Given the description of an element on the screen output the (x, y) to click on. 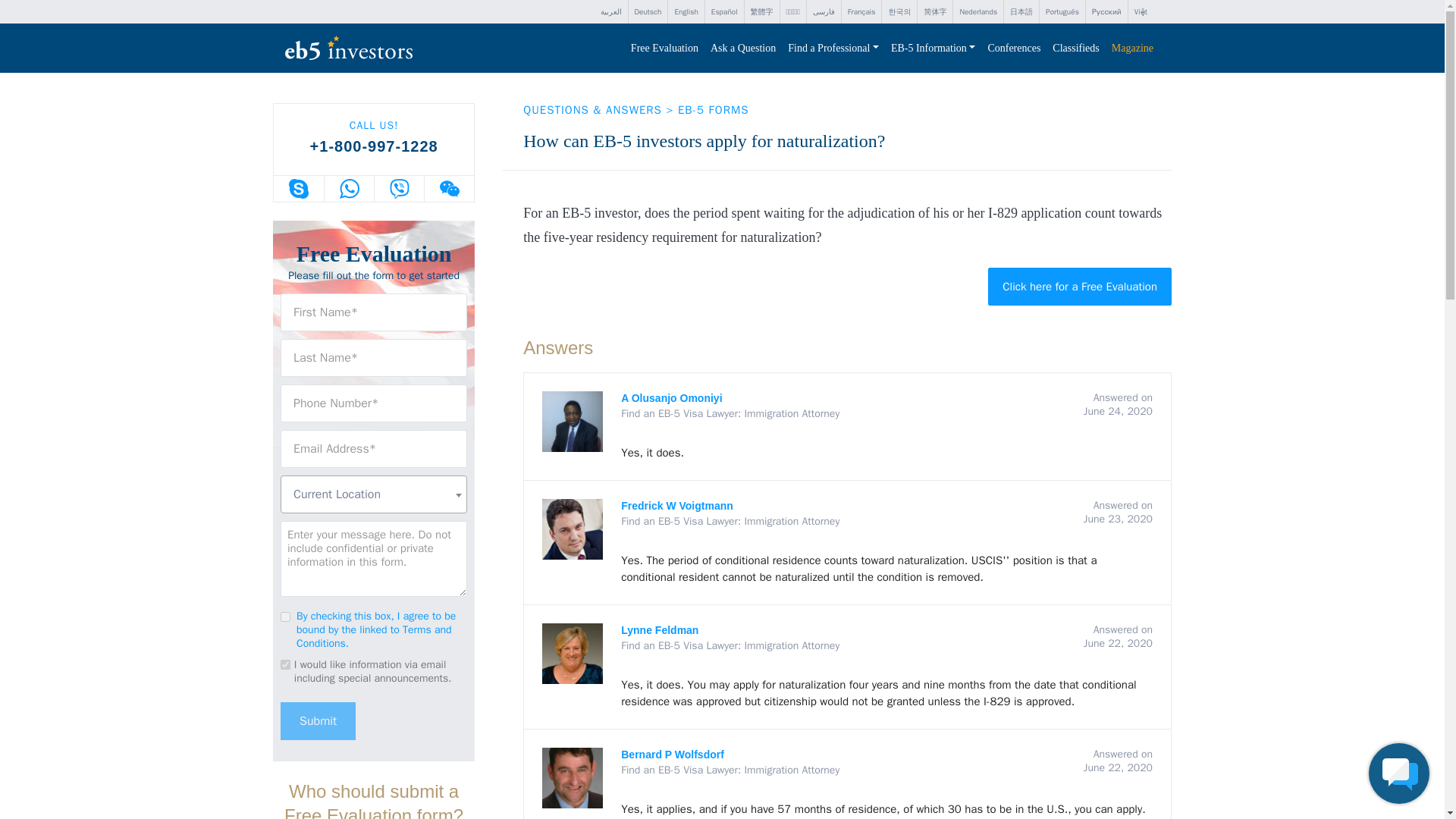
Find a Professional (833, 48)
Free Evaluation (664, 48)
Deutsch (646, 11)
Find a Professional (833, 48)
Submit (318, 720)
Ask a Question (742, 48)
English (685, 11)
Free Evaluation (664, 48)
Ask a Question (742, 48)
1 (285, 616)
Nederlands (978, 11)
EB-5 Information (933, 48)
